Given the description of an element on the screen output the (x, y) to click on. 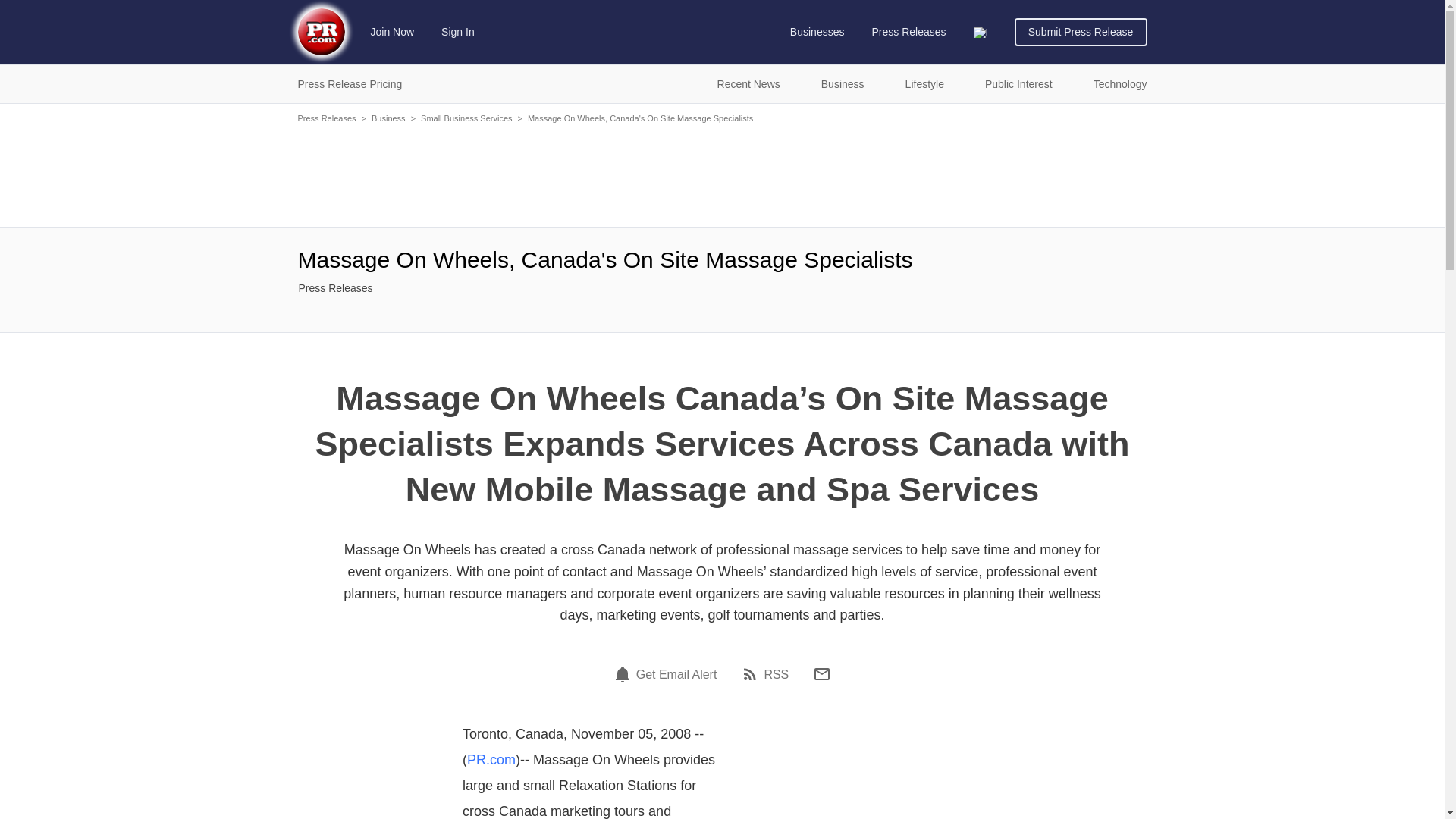
Join Now (392, 31)
Press Releases (908, 31)
Submit Press Release (1080, 31)
Sign In (458, 31)
Businesses (817, 31)
